Given the description of an element on the screen output the (x, y) to click on. 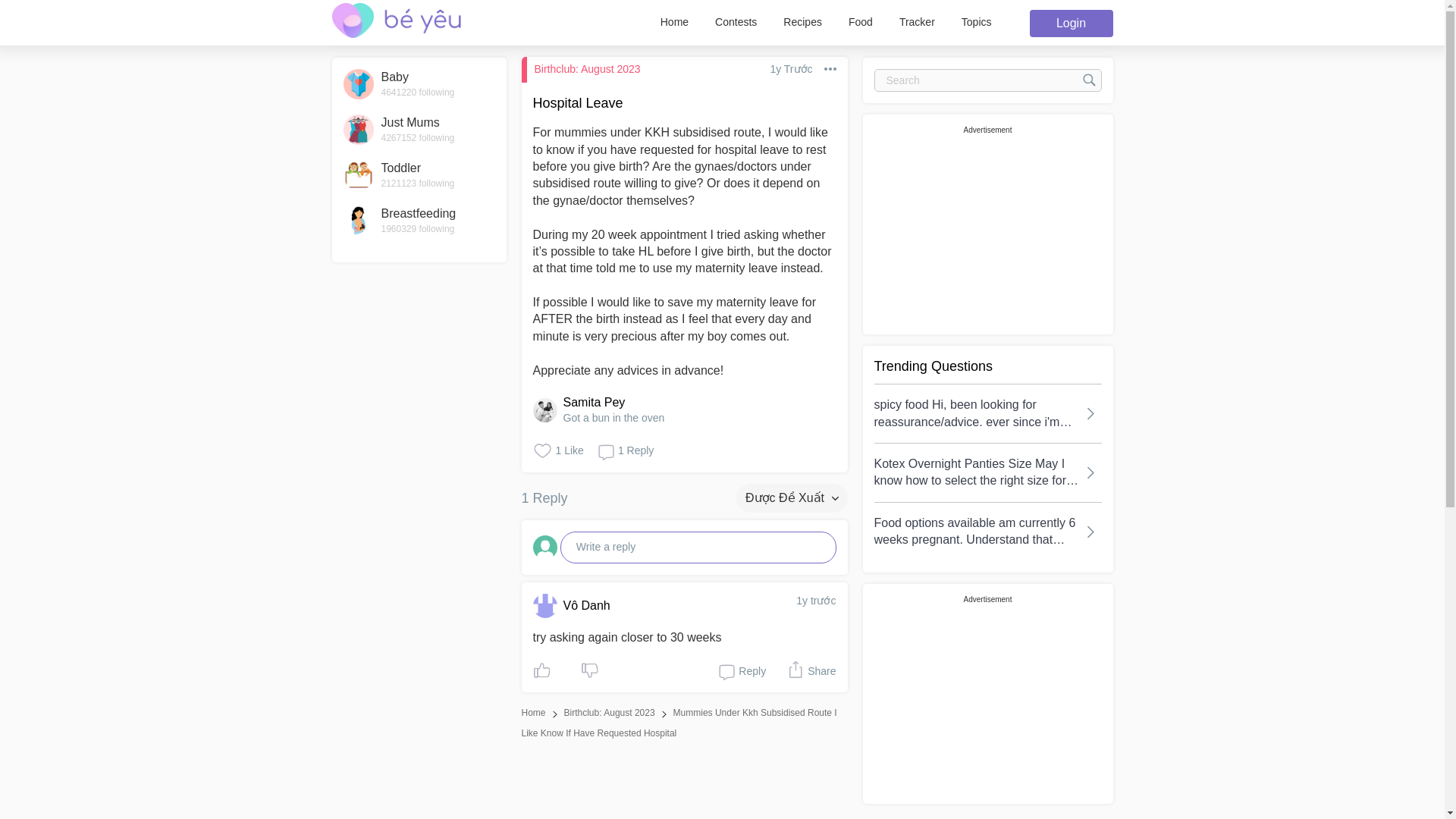
Home (418, 83)
Recipes (533, 712)
Tracker (802, 21)
Login (916, 21)
Food (1071, 22)
query (860, 21)
Topics (418, 174)
Home (418, 129)
Birthclub: August 2023 (418, 220)
Contests (986, 79)
